Given the description of an element on the screen output the (x, y) to click on. 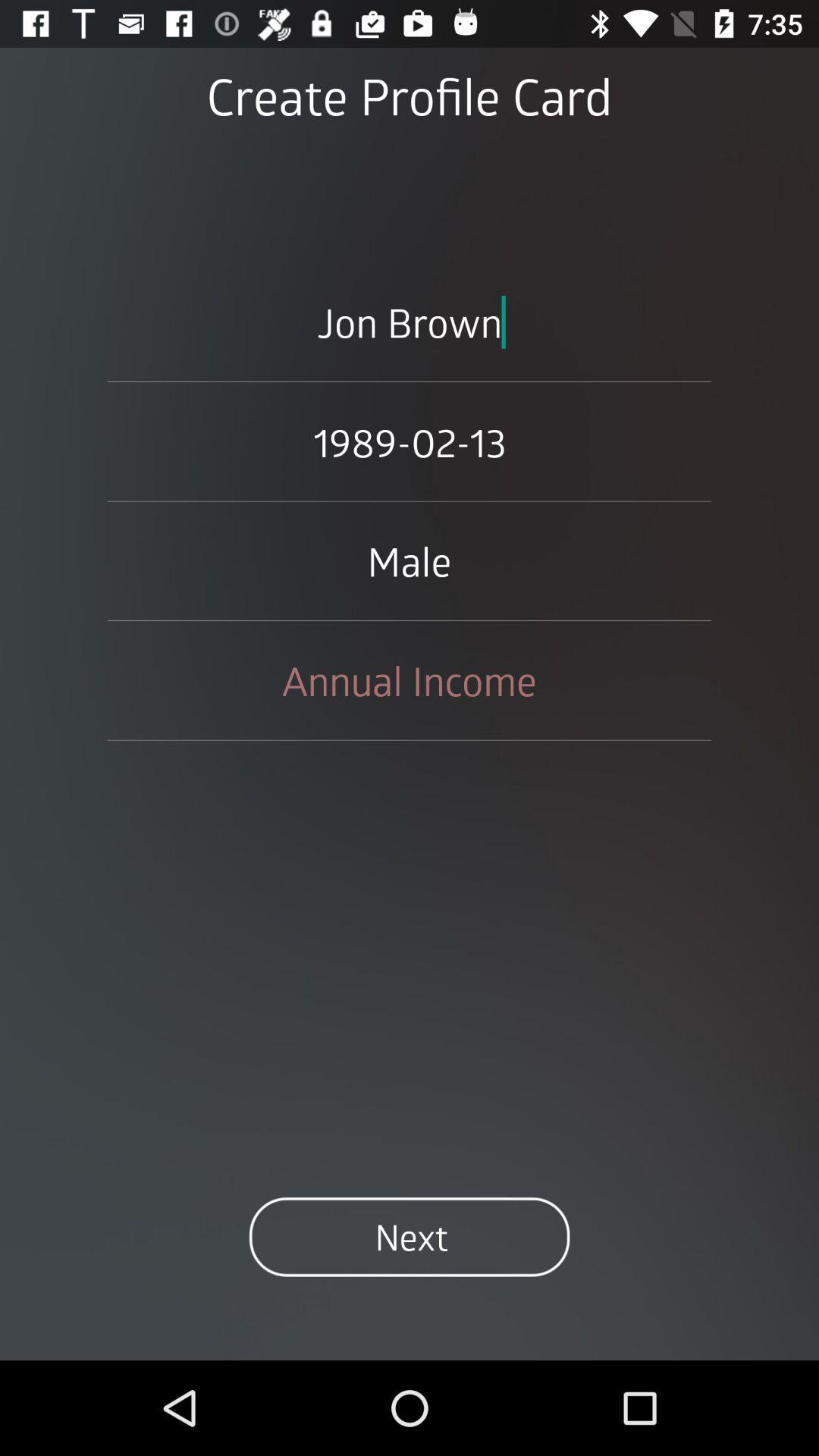
enter annual income (409, 680)
